Given the description of an element on the screen output the (x, y) to click on. 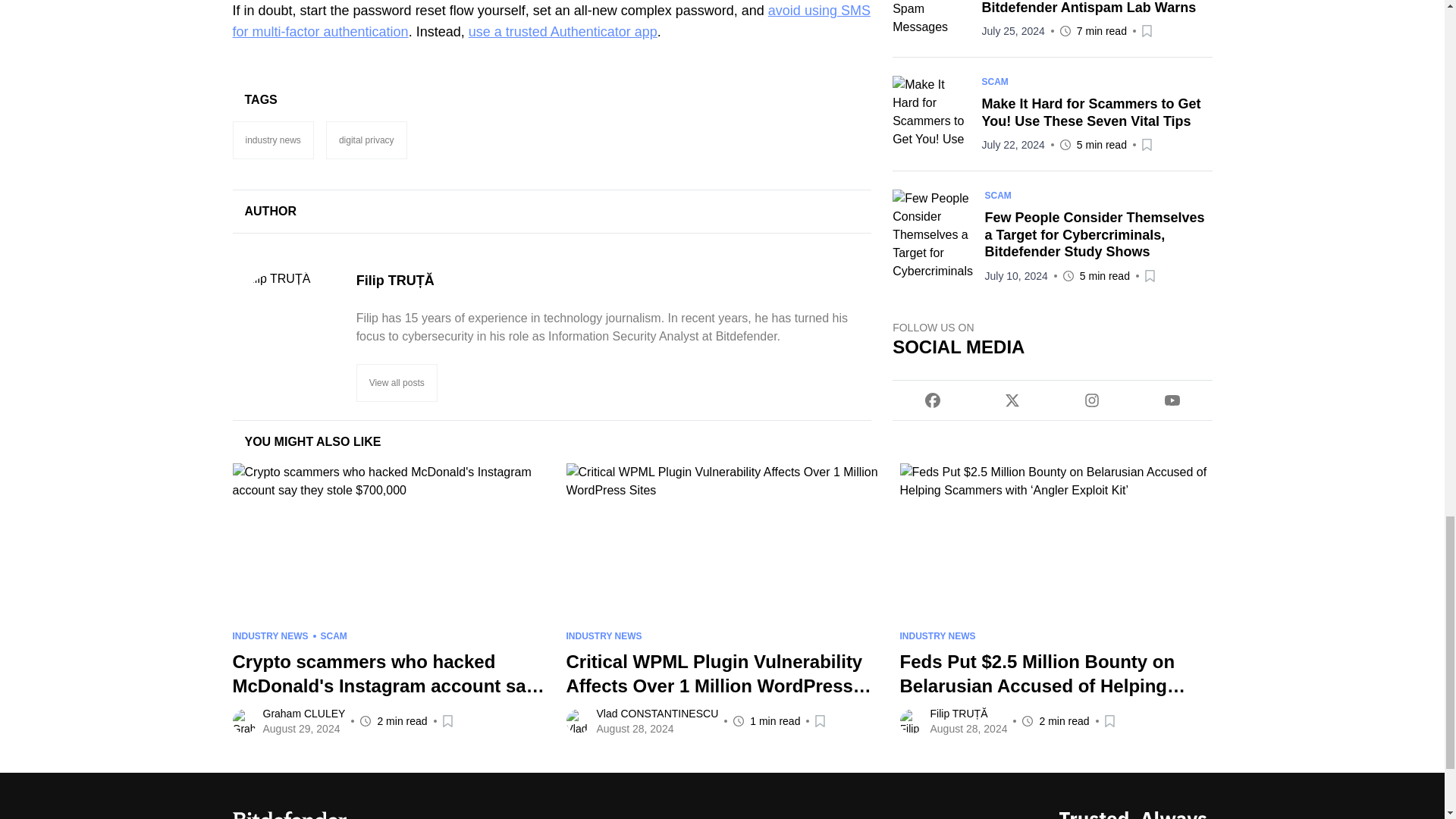
Industry News (272, 139)
industry news (272, 139)
View all posts (397, 382)
Digital Privacy (366, 139)
use a trusted Authenticator app (563, 31)
avoid using SMS for multi-factor authentication (550, 21)
digital privacy (366, 139)
